Given the description of an element on the screen output the (x, y) to click on. 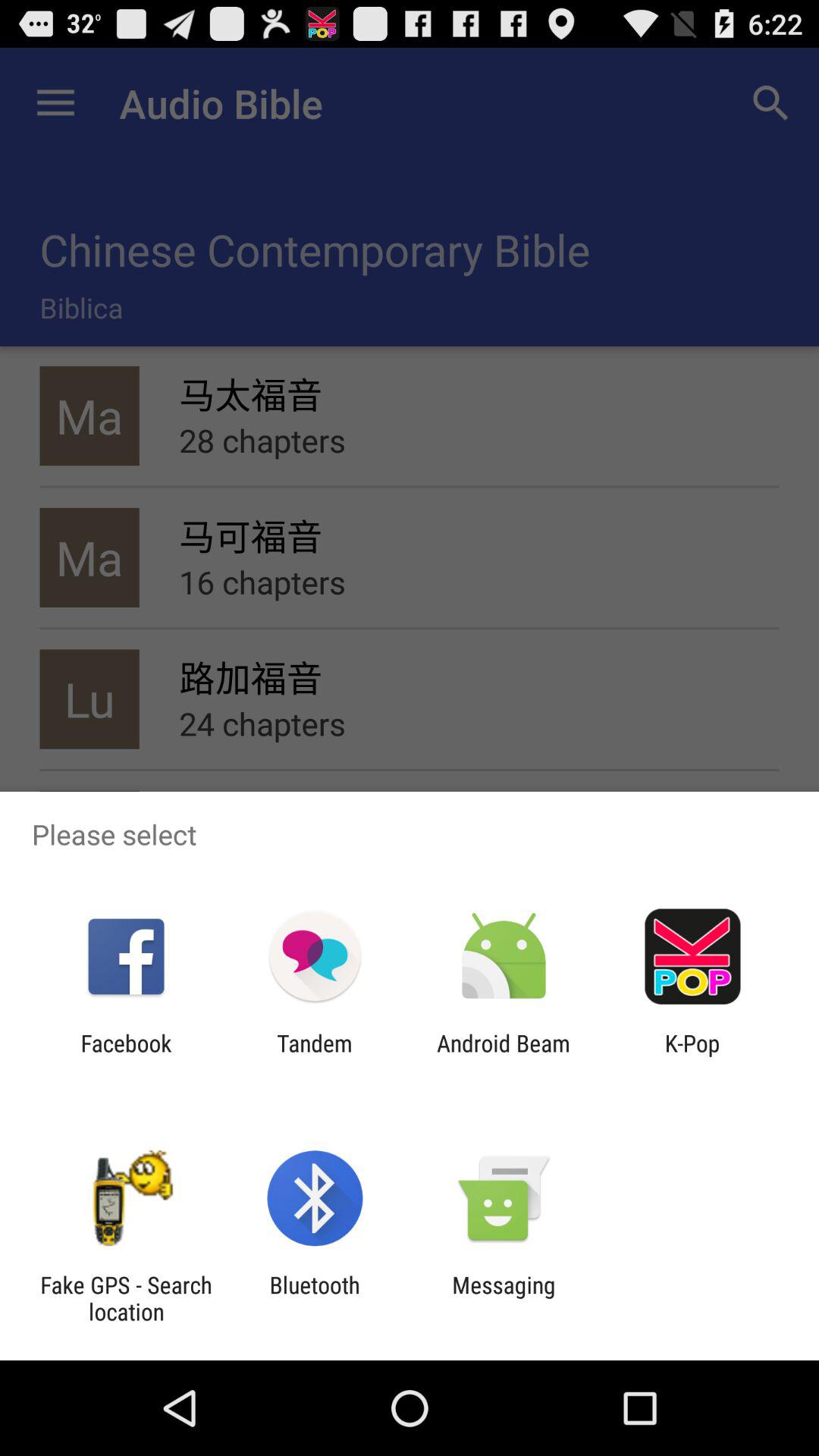
choose app next to facebook (314, 1056)
